Given the description of an element on the screen output the (x, y) to click on. 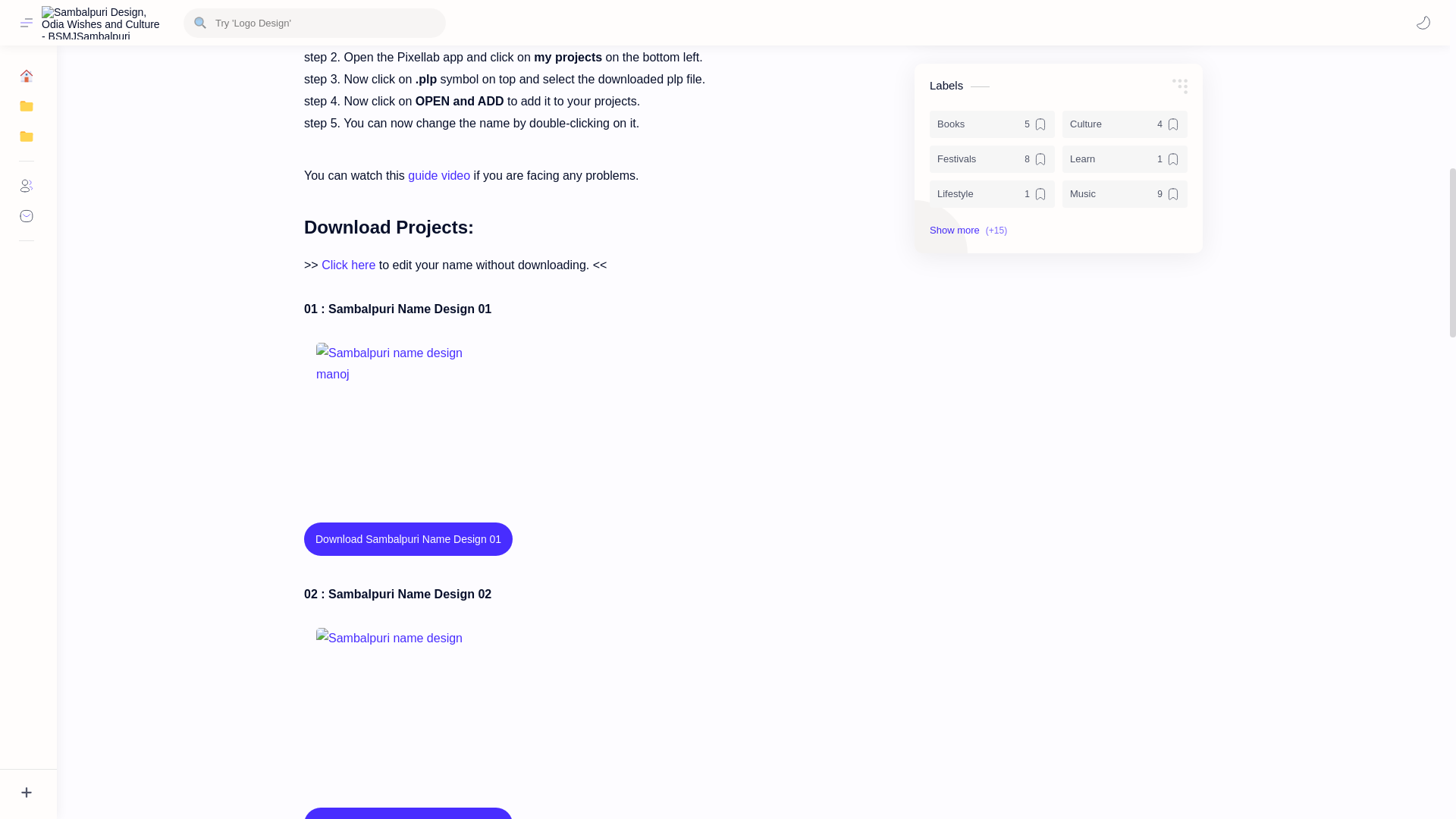
Download Sambalpuri Name Design 01 (408, 539)
Download Sambalpuri Name Design 01 (408, 538)
Click here (348, 264)
guide video (438, 174)
Sambalpuri name design manoj (391, 418)
Sambalpuri name design (391, 703)
